Given the description of an element on the screen output the (x, y) to click on. 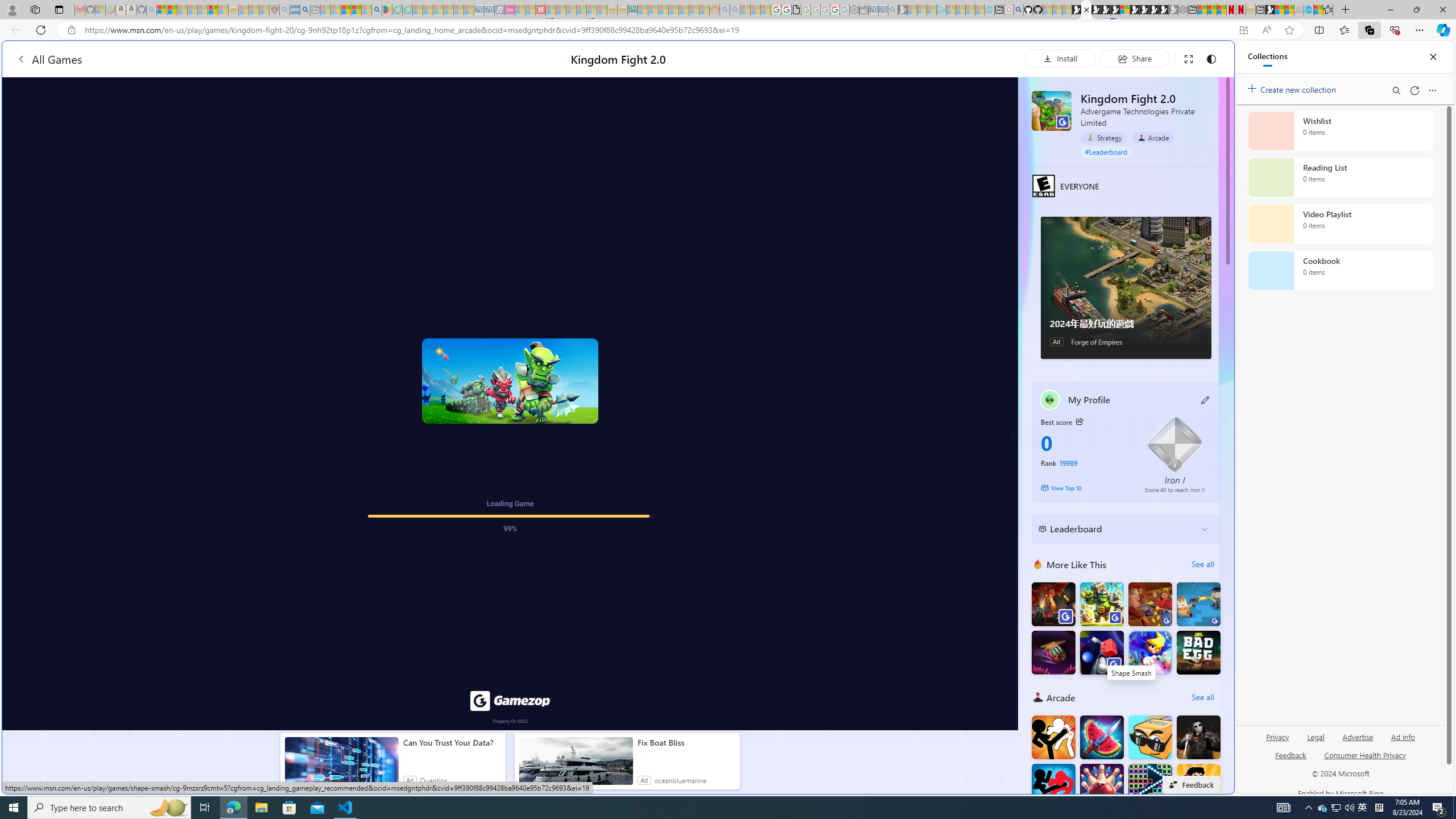
All Games (216, 58)
Jobs - lastminute.com Investor Portal - Sleeping (509, 9)
Shape Smash (1101, 652)
Search or enter web address (922, 108)
Super Bowling Mania (1101, 785)
See all (1202, 696)
